Given the description of an element on the screen output the (x, y) to click on. 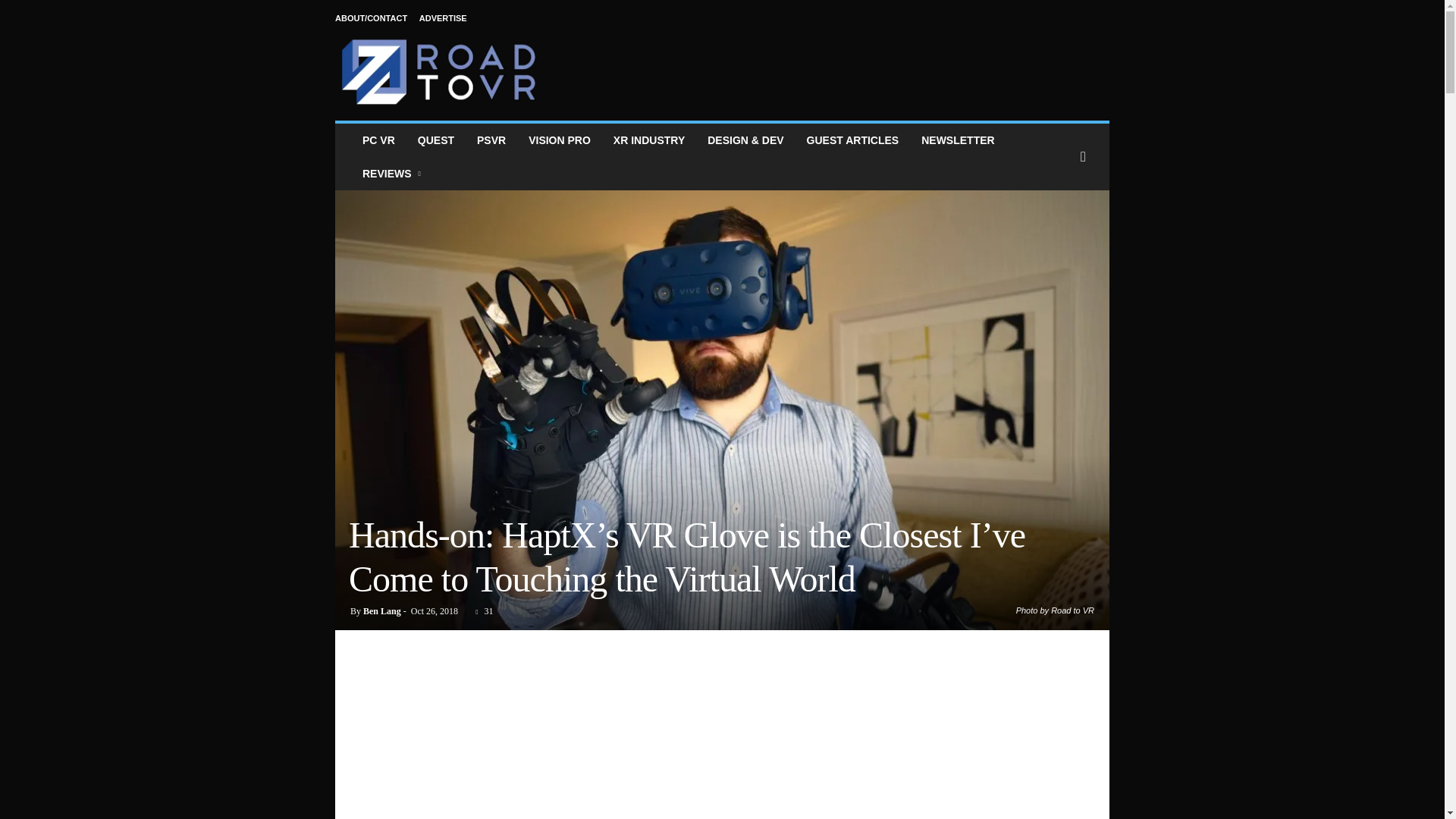
NEWSLETTER (958, 140)
31 (480, 611)
AR VR MR XR News (648, 140)
Road to VR (437, 70)
3rd party ad content (833, 61)
GUEST ARTICLES (852, 140)
PC VR (378, 140)
REVIEWS (392, 173)
PSVR (490, 140)
XR INDUSTRY (648, 140)
VISION PRO (559, 140)
3rd party ad content (722, 728)
ADVERTISE (443, 17)
QUEST (435, 140)
Ben Lang (381, 611)
